Given the description of an element on the screen output the (x, y) to click on. 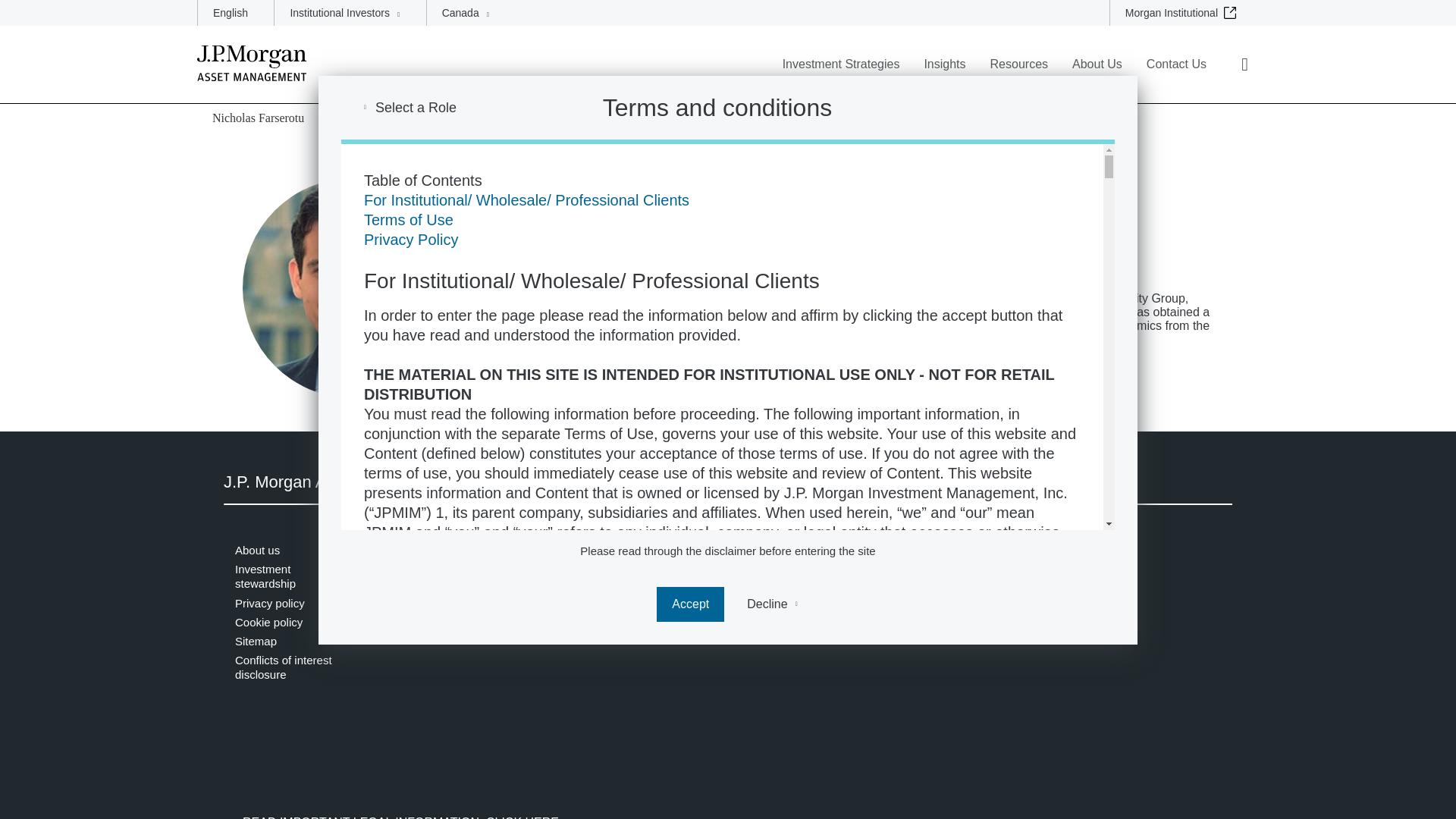
accept (689, 604)
Morgan Institutional (1184, 12)
Resources (1019, 74)
Decline (771, 604)
Terms of Use (408, 219)
Investment Strategies (840, 74)
Insights (944, 74)
Privacy Policy (411, 239)
